Given the description of an element on the screen output the (x, y) to click on. 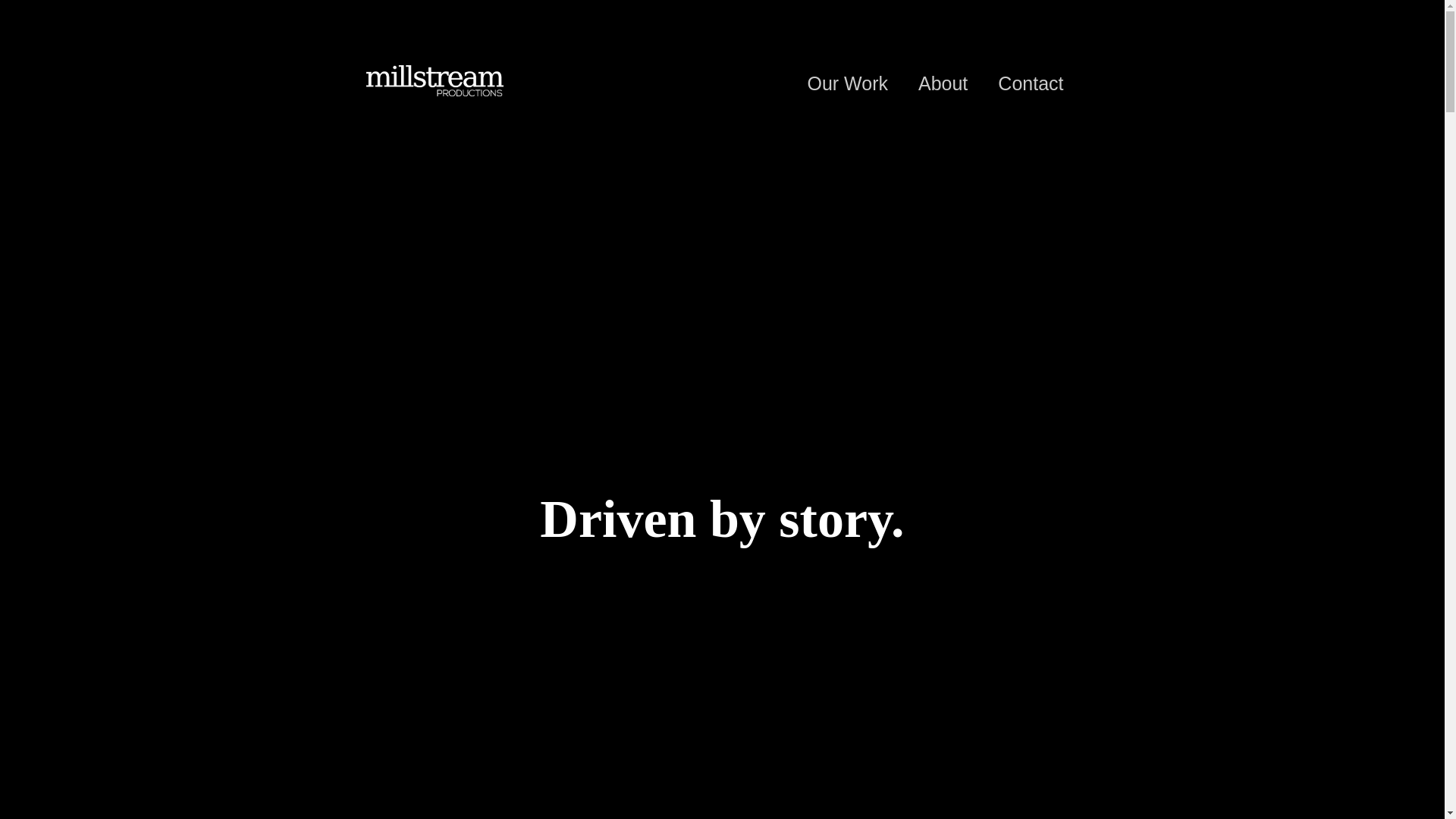
Contact Element type: text (1030, 83)
About Element type: text (942, 83)
Our Work Element type: text (847, 83)
